Given the description of an element on the screen output the (x, y) to click on. 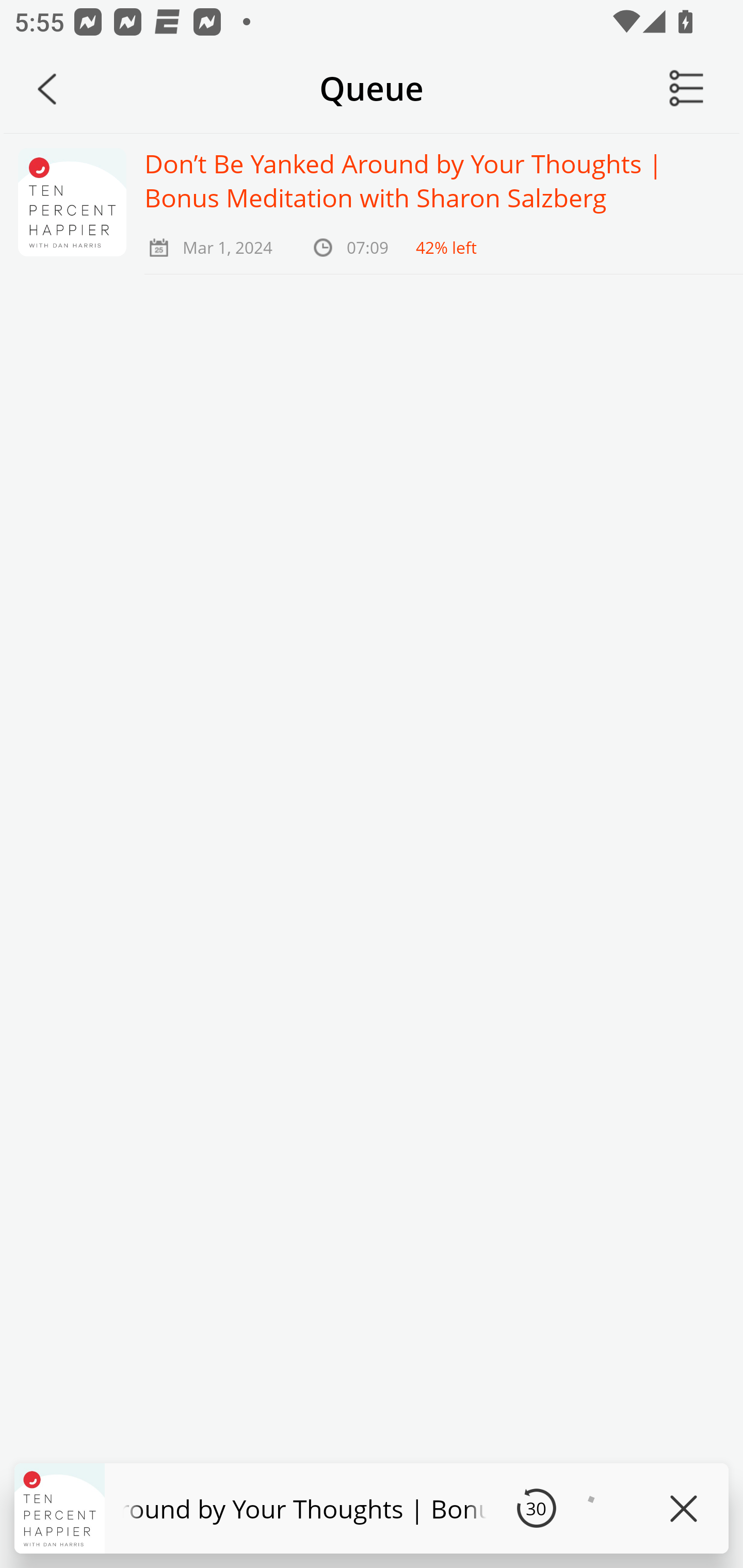
Back (46, 88)
30 Seek Backward (536, 1508)
